Given the description of an element on the screen output the (x, y) to click on. 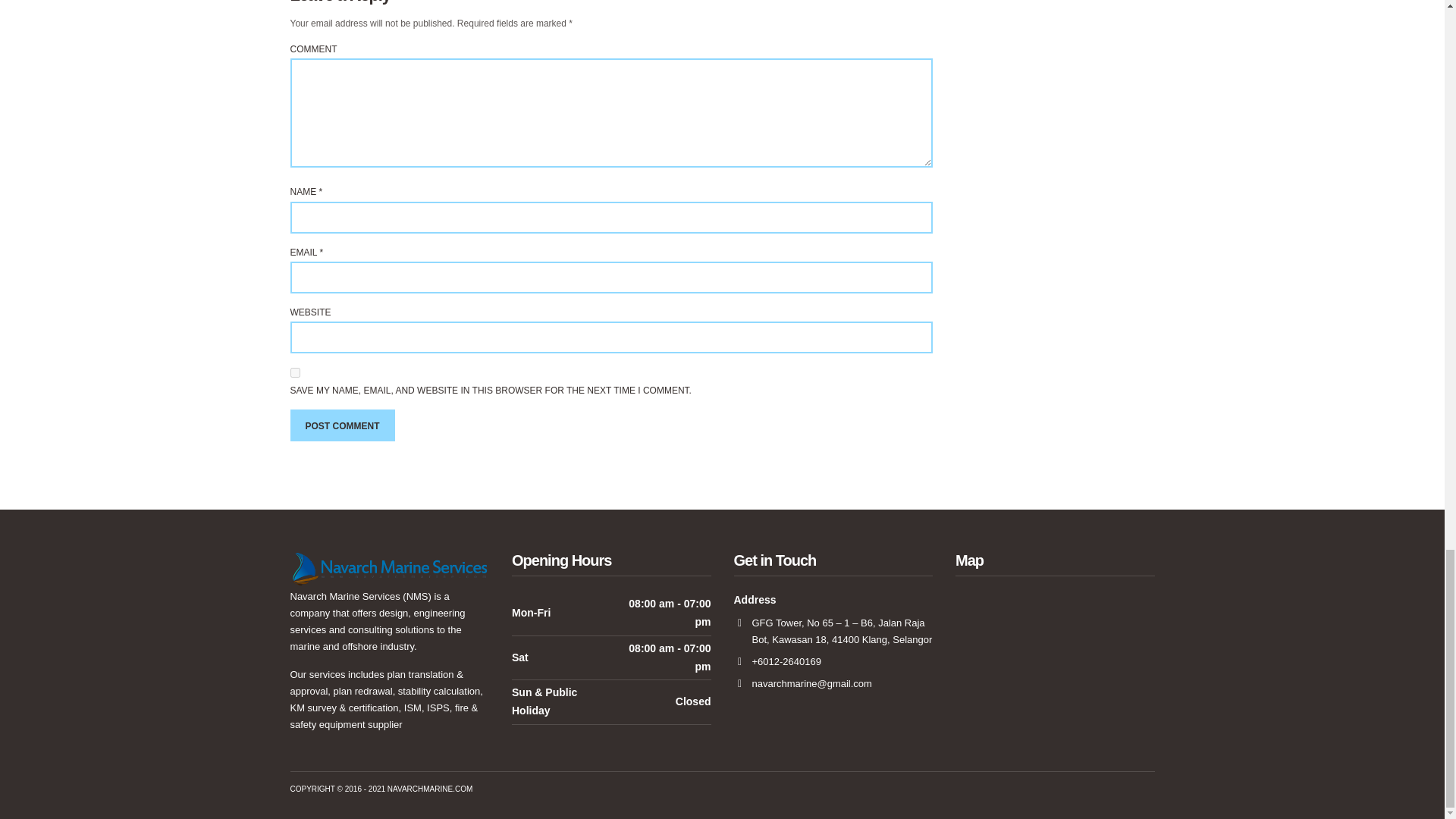
yes (294, 372)
Post Comment (341, 425)
Post Comment (341, 425)
